Given the description of an element on the screen output the (x, y) to click on. 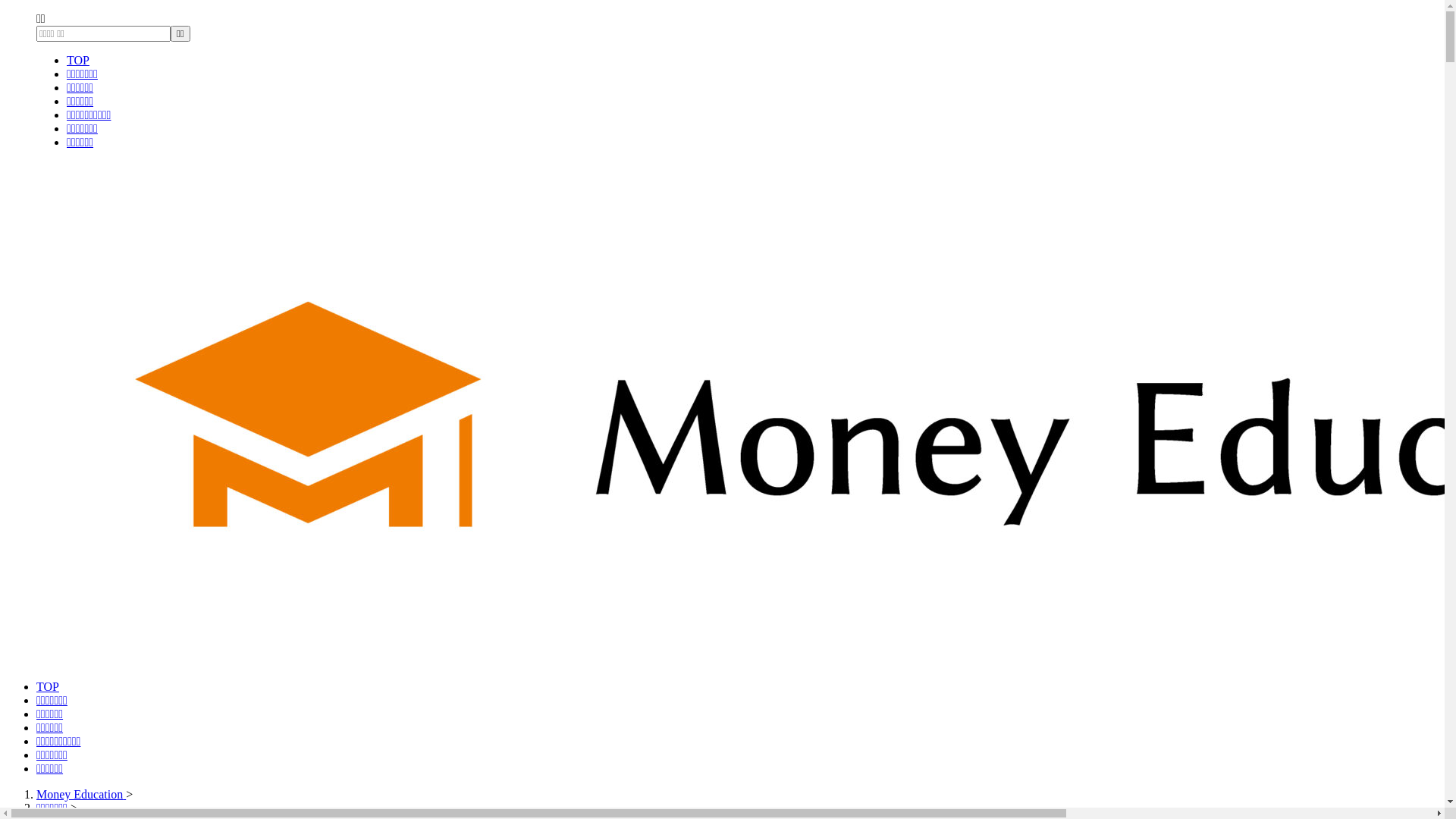
Money Education Element type: text (80, 793)
TOP Element type: text (47, 686)
TOP Element type: text (77, 59)
